Given the description of an element on the screen output the (x, y) to click on. 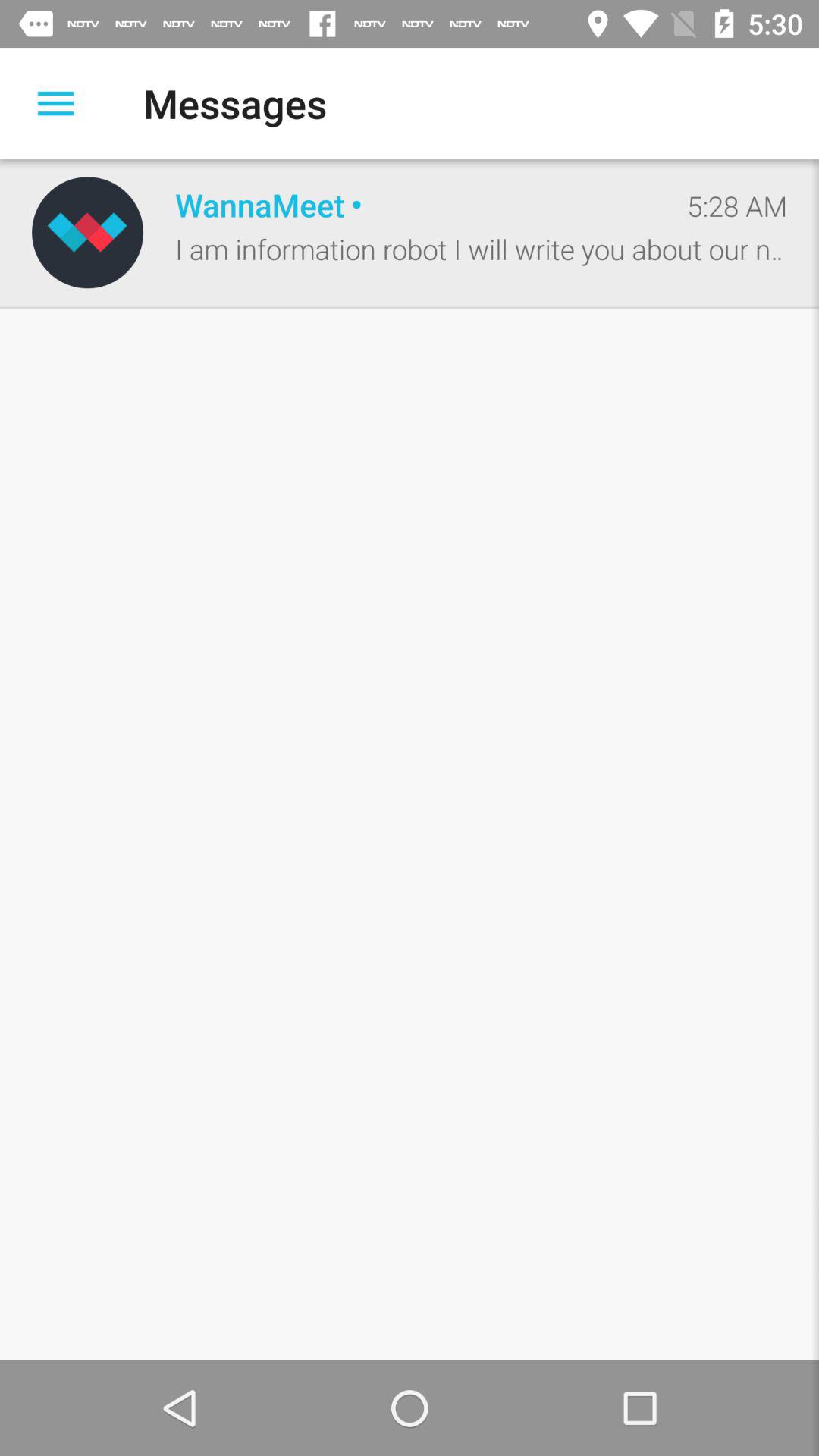
press the item next to the wannameet (737, 205)
